Given the description of an element on the screen output the (x, y) to click on. 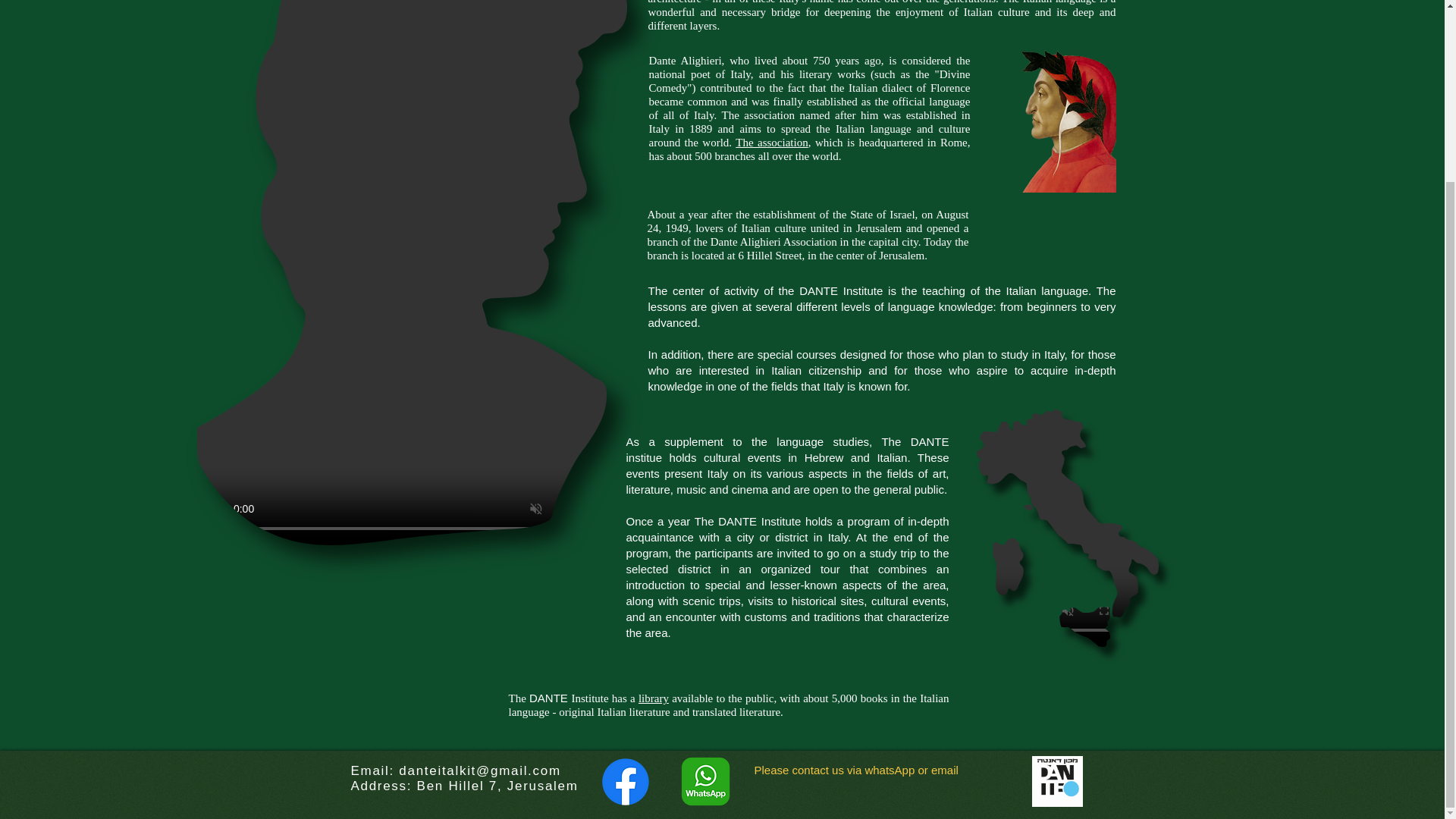
The association (771, 142)
library (653, 698)
